Given the description of an element on the screen output the (x, y) to click on. 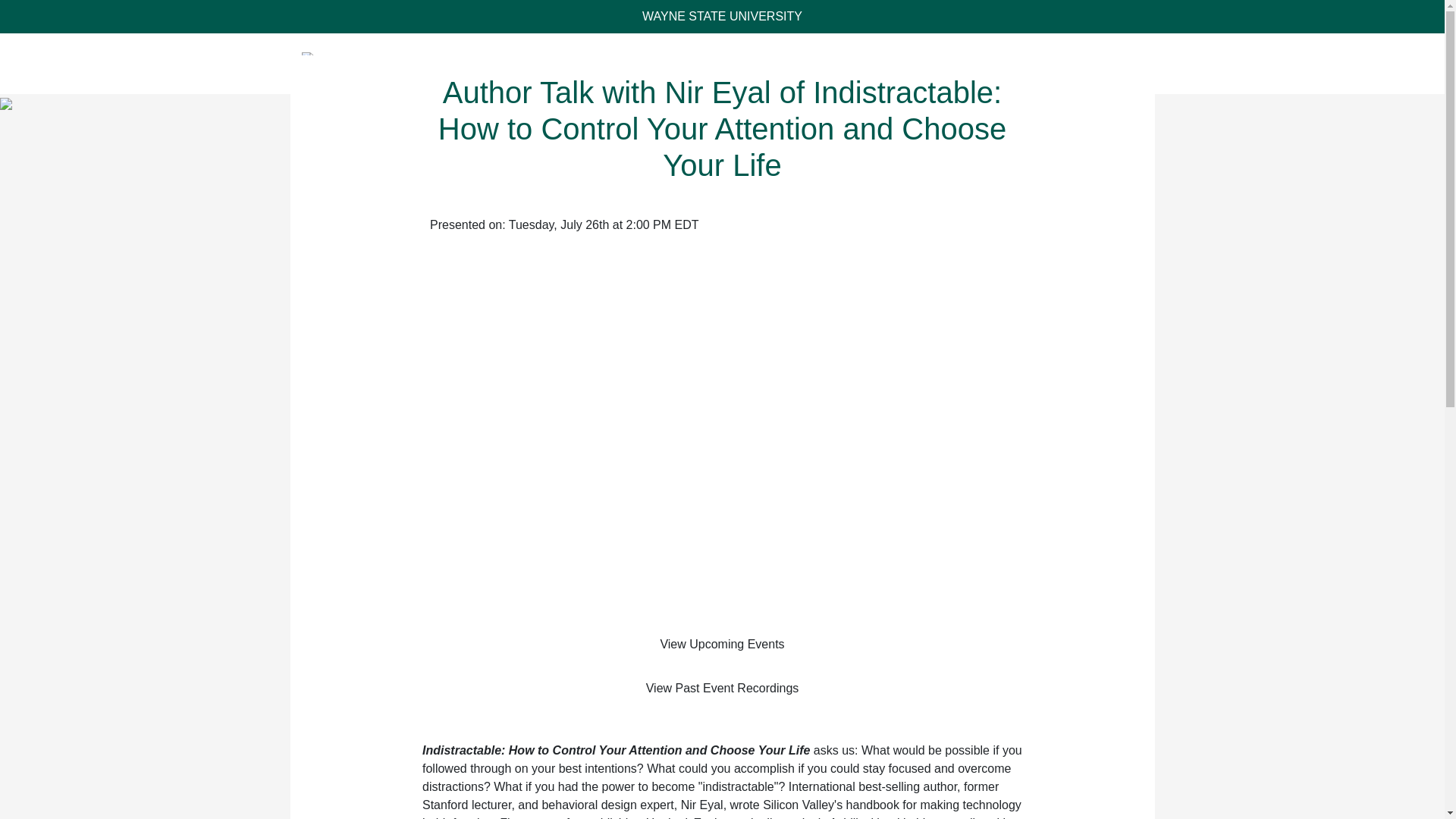
Alumni Association (943, 63)
Upcoming Events (756, 63)
Give (1020, 63)
View Upcoming Events (722, 644)
Past Events (848, 63)
View Past Event Recordings (722, 688)
Resource Library (1090, 63)
